Given the description of an element on the screen output the (x, y) to click on. 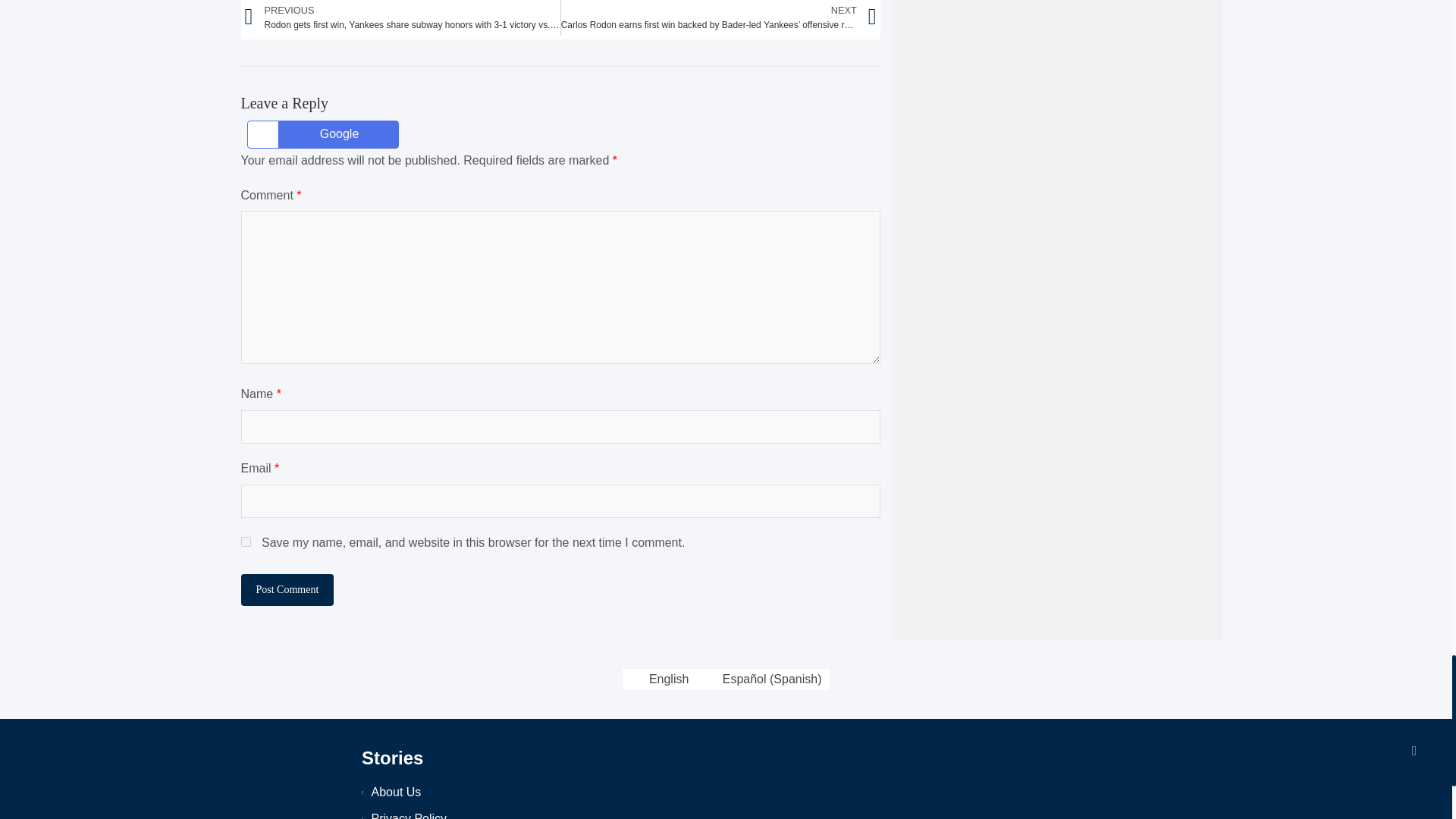
Post Comment (287, 590)
yes (245, 542)
